Given the description of an element on the screen output the (x, y) to click on. 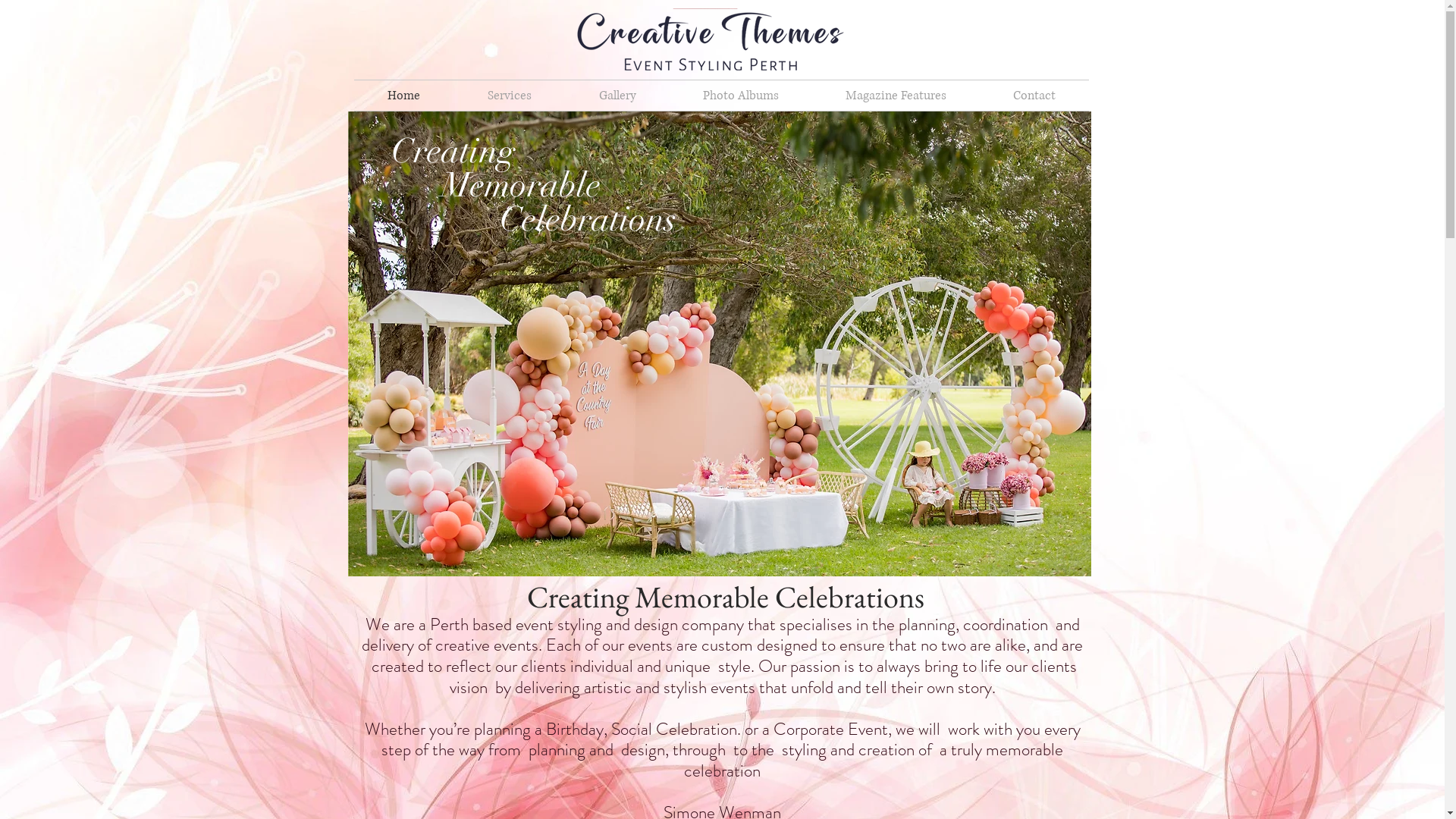
Contact Element type: text (1033, 95)
Gallery Element type: text (617, 95)
Photo Albums Element type: text (739, 95)
Magazine Features Element type: text (895, 95)
Home Element type: text (403, 95)
Services Element type: text (508, 95)
